Given the description of an element on the screen output the (x, y) to click on. 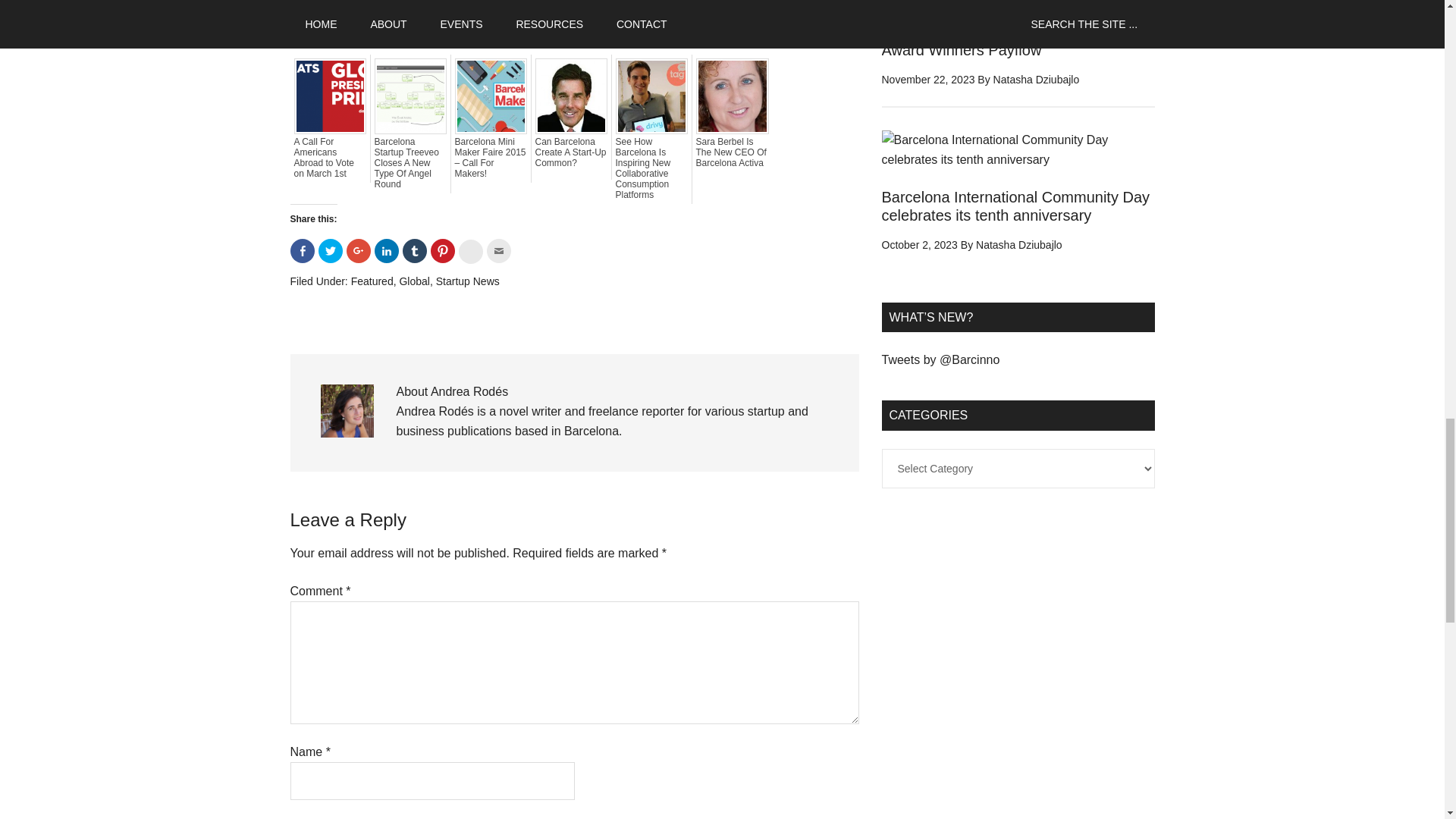
Click to email this to a friend (498, 250)
check out the complete list here (721, 11)
Can Barcelona Create A Start-Up Common? (571, 152)
Barcelona Startup Treeveo Closes A New Type Of Angel Round (410, 162)
Click to share on Facebook (301, 250)
Click to share on Pinterest (442, 250)
Click to share on LinkedIn (386, 250)
Click to share on Tumblr (413, 250)
A Call For Americans Abroad to Vote on March 1st (330, 157)
